Given the description of an element on the screen output the (x, y) to click on. 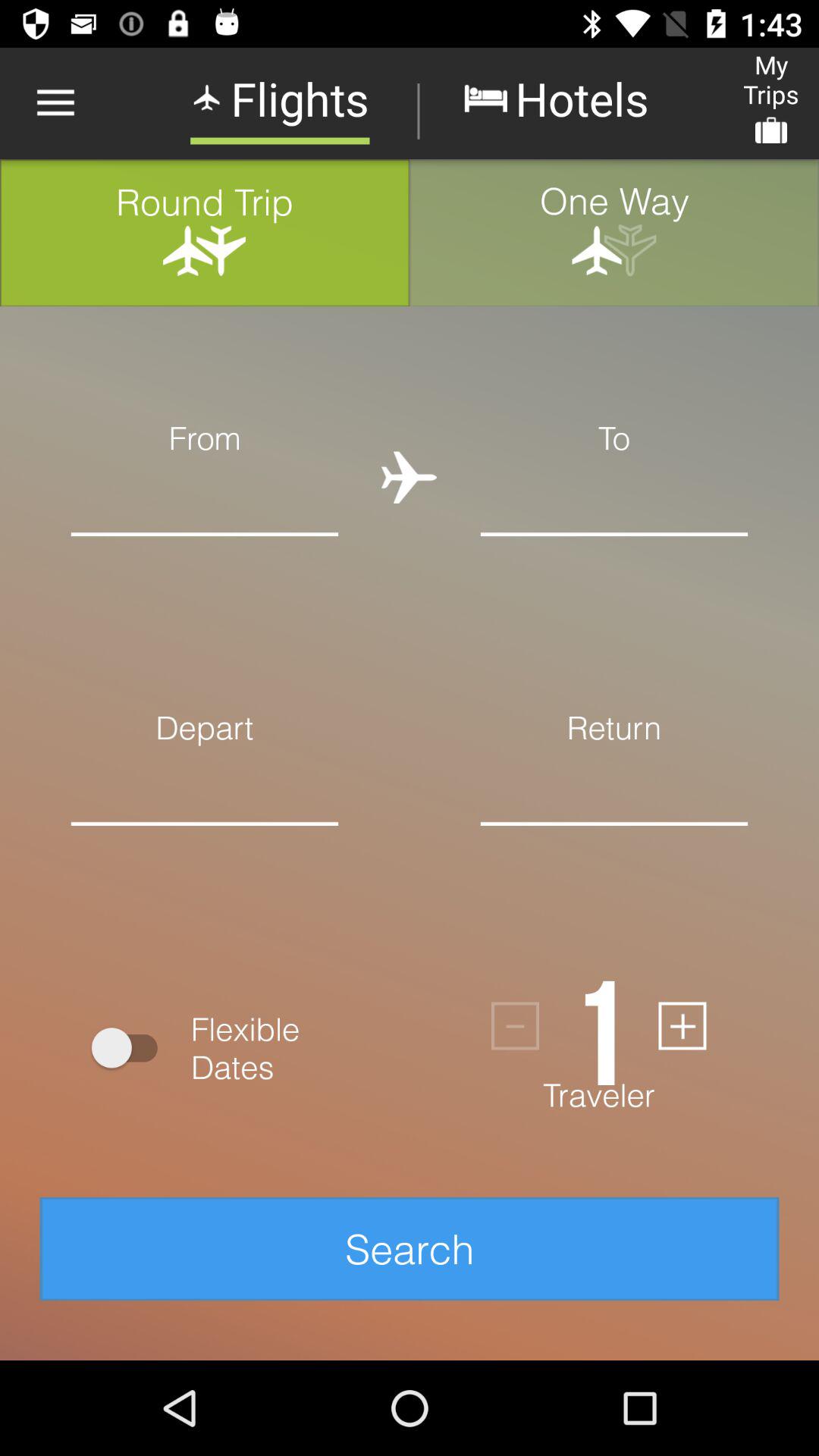
subtract a traveler (515, 1025)
